Given the description of an element on the screen output the (x, y) to click on. 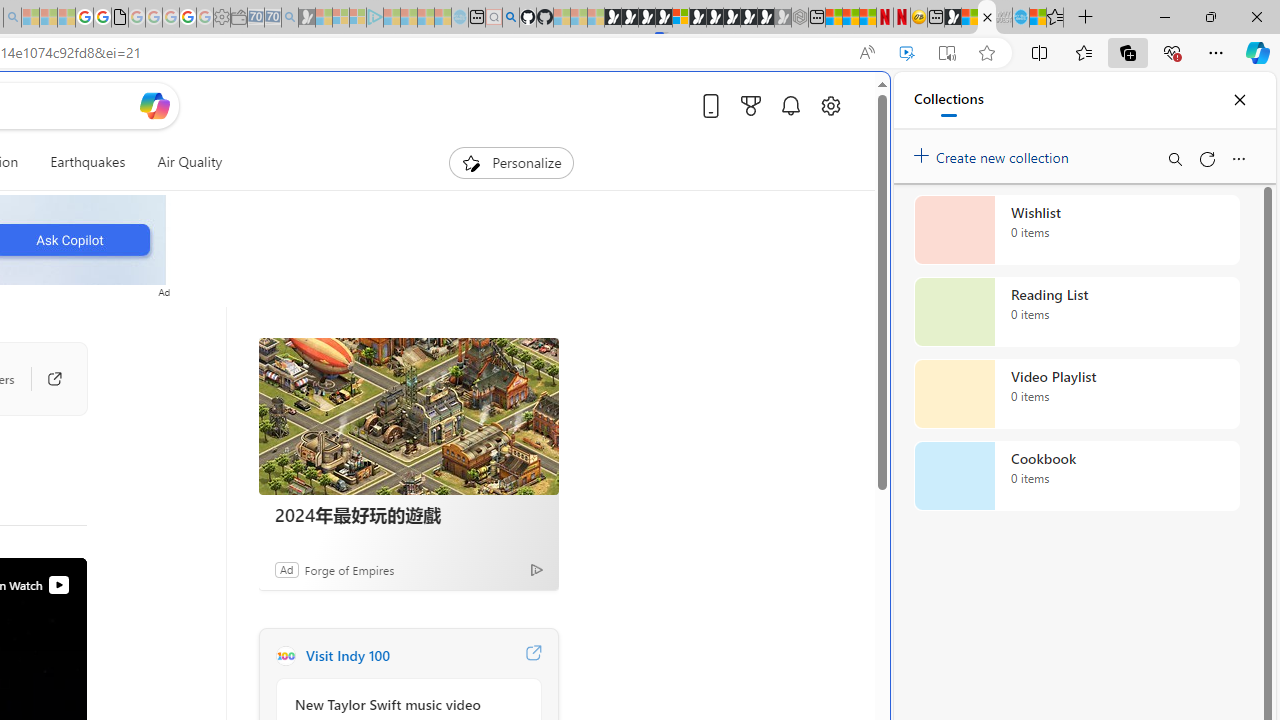
Video Playlist collection, 0 items (1076, 394)
Services - Maintenance | Sky Blue Bikes - Sky Blue Bikes (1020, 17)
Go to publisher's site (44, 378)
github - Search (510, 17)
google_privacy_policy_zh-CN.pdf (119, 17)
